Given the description of an element on the screen output the (x, y) to click on. 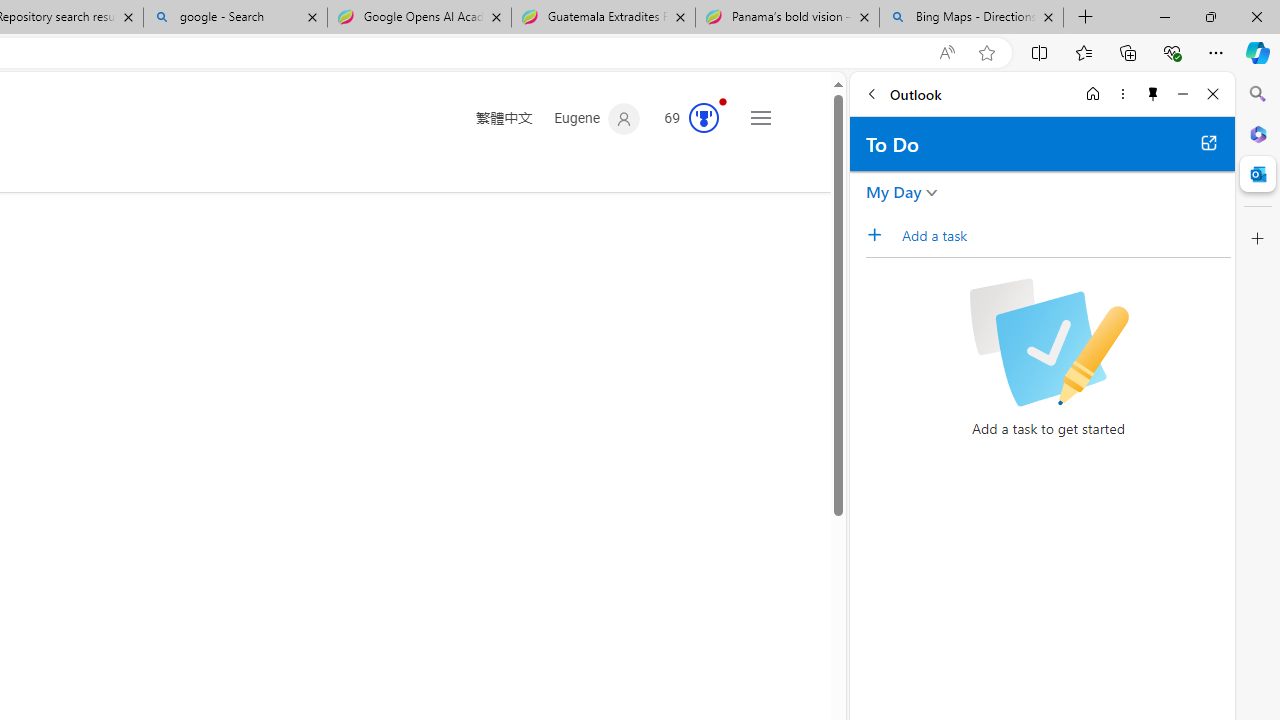
Add a task (881, 235)
More options (1122, 93)
google - Search (234, 17)
AutomationID: serp_medal_svg (703, 117)
Eugene (597, 119)
